Given the description of an element on the screen output the (x, y) to click on. 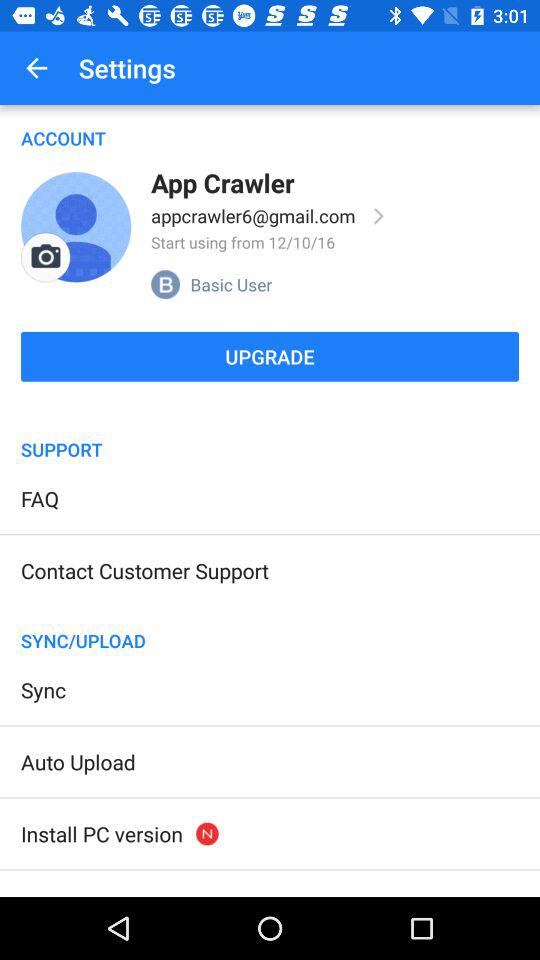
open item above the account (36, 68)
